Given the description of an element on the screen output the (x, y) to click on. 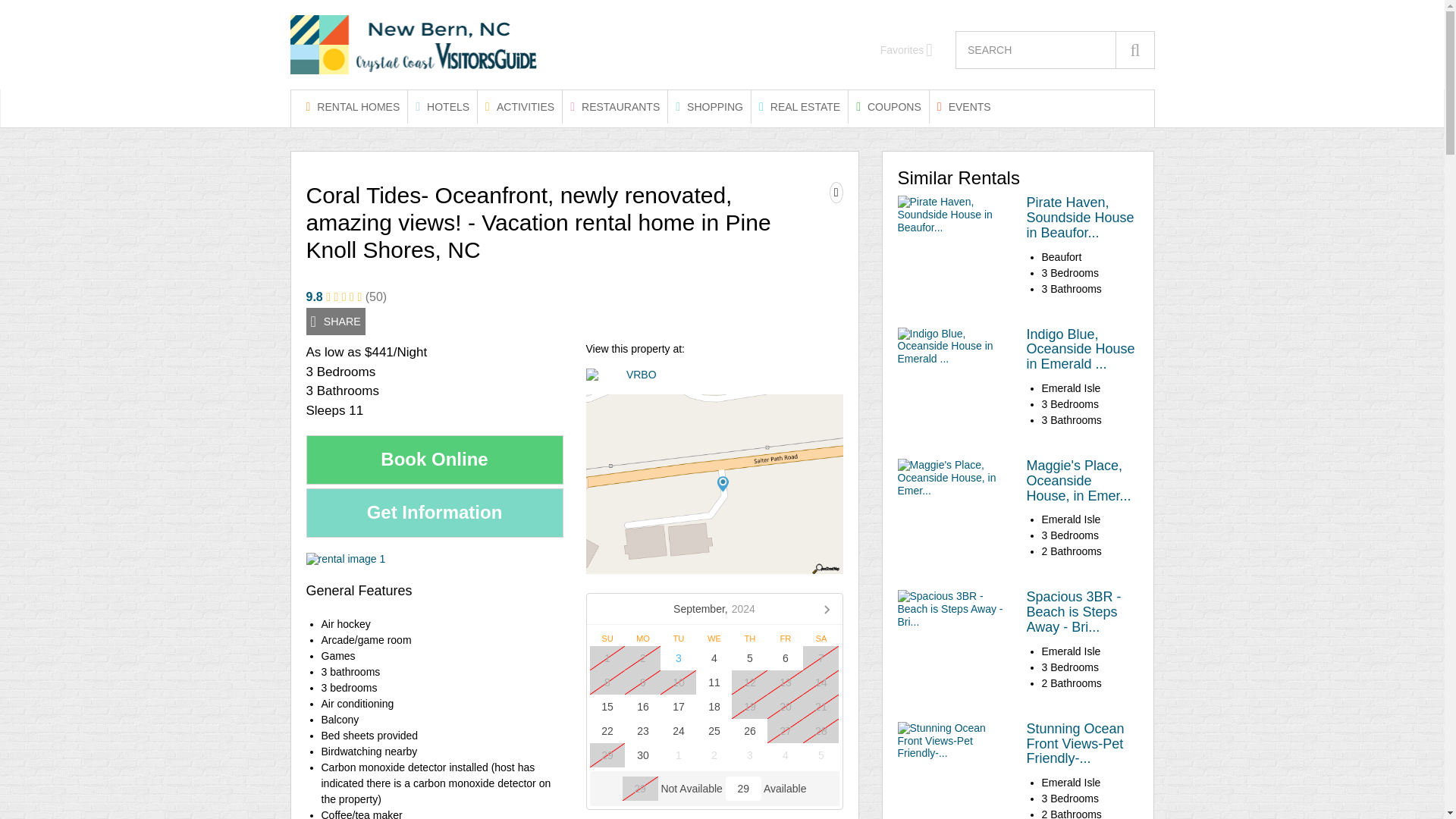
SHARE (335, 320)
ACTIVITIES (519, 106)
HOTELS (442, 106)
REAL ESTATE (799, 106)
Book Online (434, 459)
RENTAL HOMES (352, 106)
COUPONS (888, 106)
Get Information (434, 512)
Favorites (906, 49)
SHOPPING (709, 106)
